Given the description of an element on the screen output the (x, y) to click on. 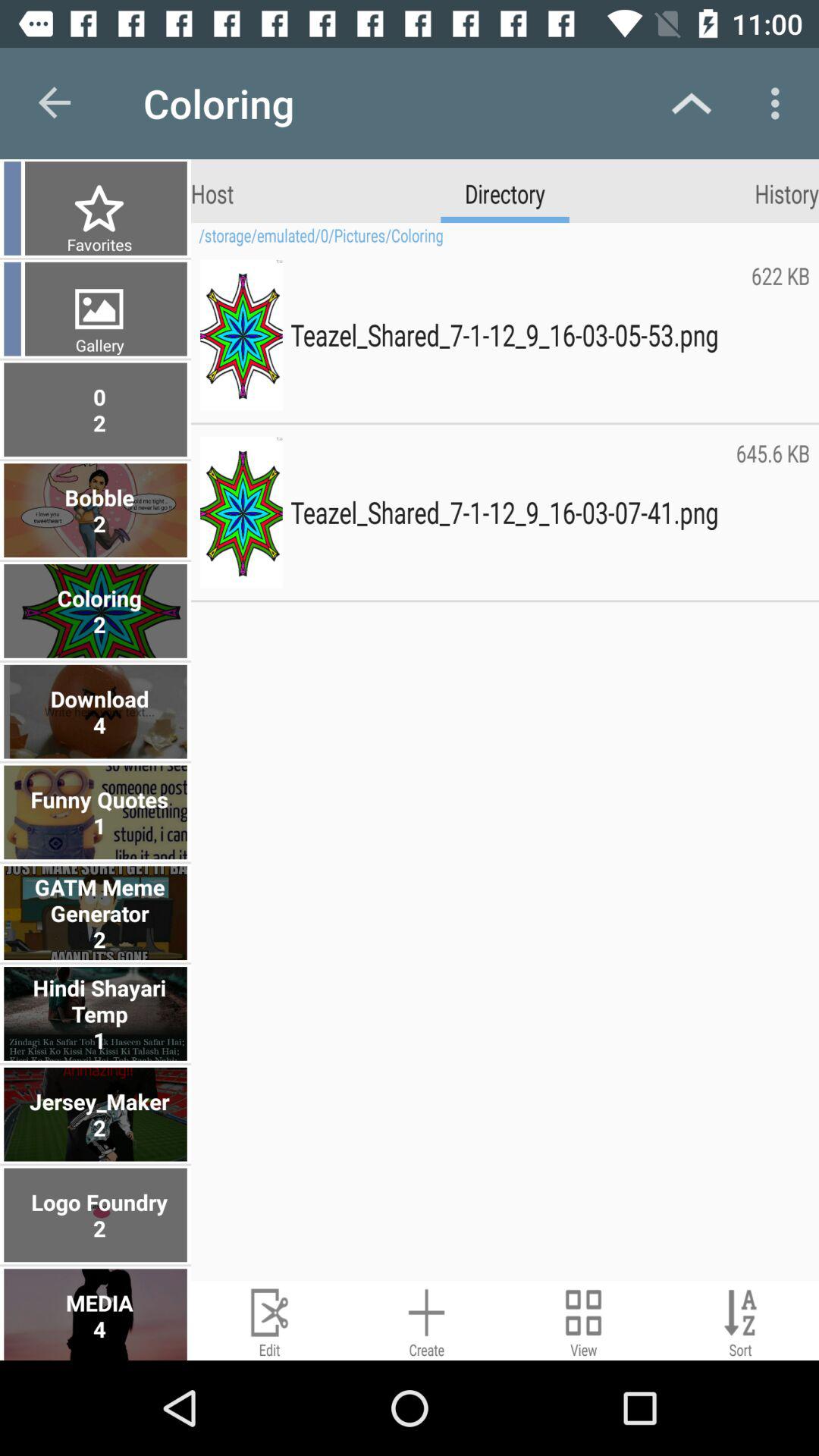
click favorites (97, 244)
